Given the description of an element on the screen output the (x, y) to click on. 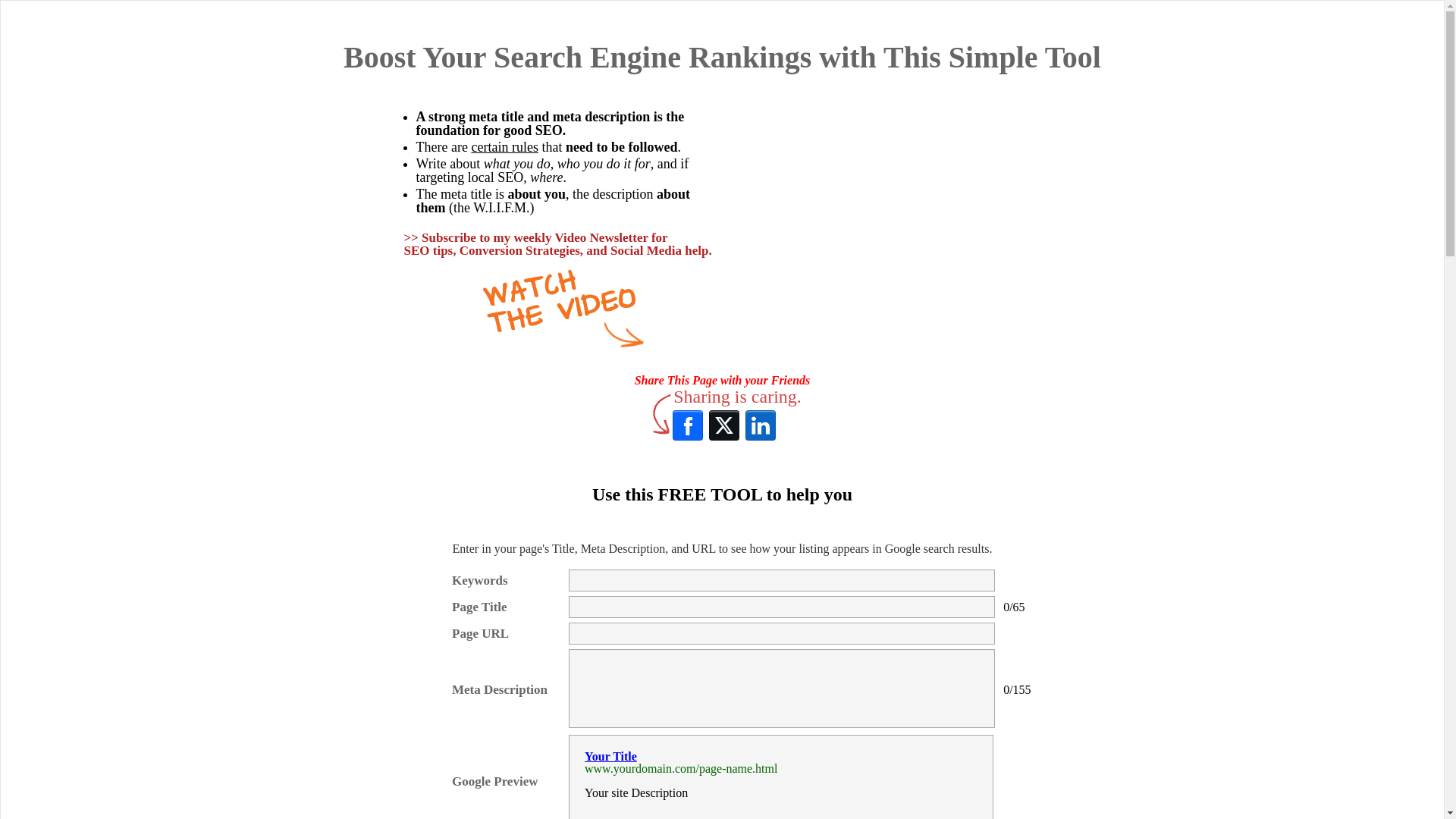
Facebook Element type: hover (687, 425)
X (Twitter) Element type: hover (724, 425)
Your Title Element type: text (610, 755)
www.yourdomain.com/page-name.html Element type: text (680, 768)
LinkedIn Element type: hover (760, 425)
